Given the description of an element on the screen output the (x, y) to click on. 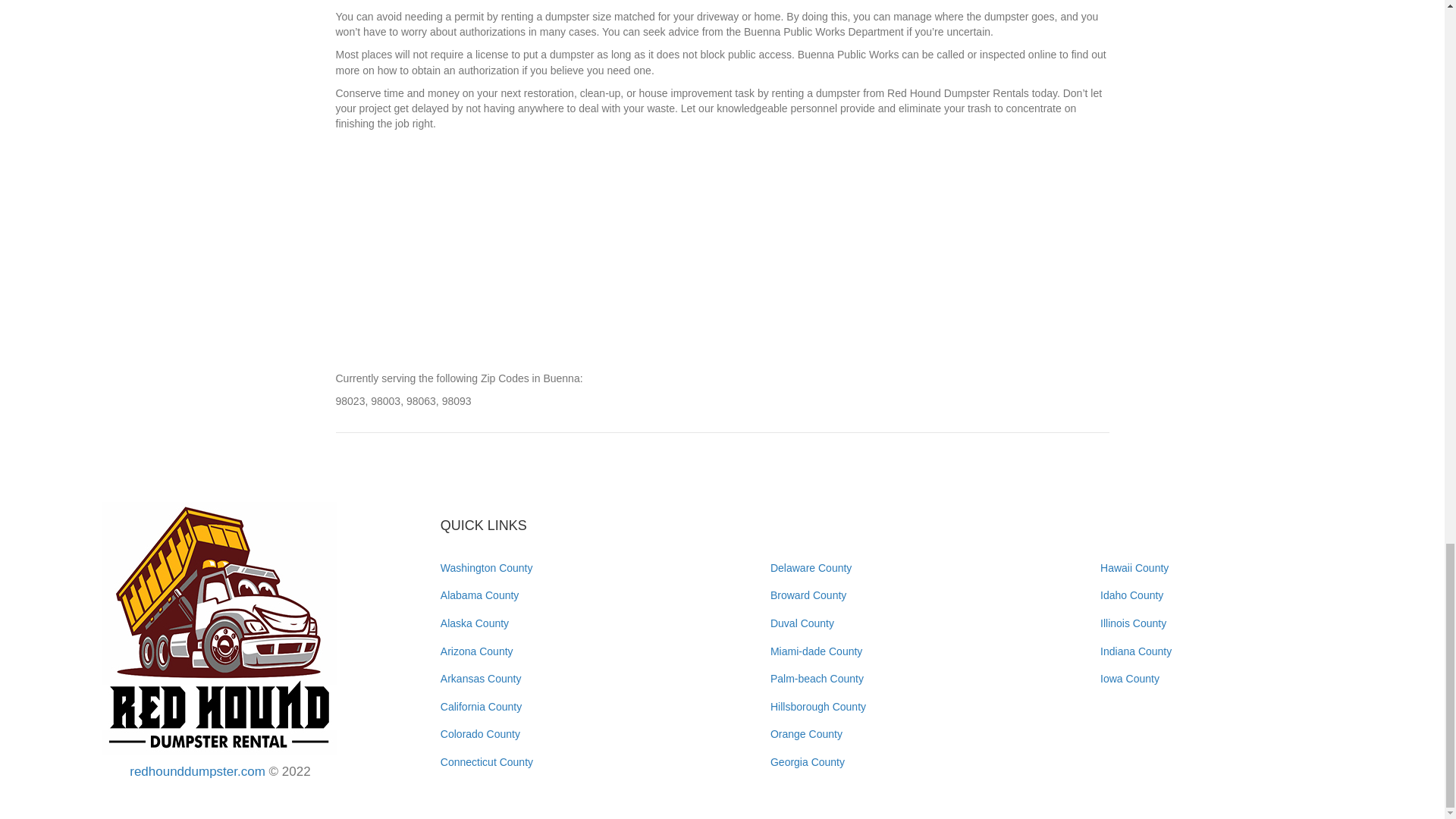
Alabama County (480, 594)
redhounddumpster.com (196, 771)
redhounddumpster (219, 628)
Washington County (486, 567)
